Given the description of an element on the screen output the (x, y) to click on. 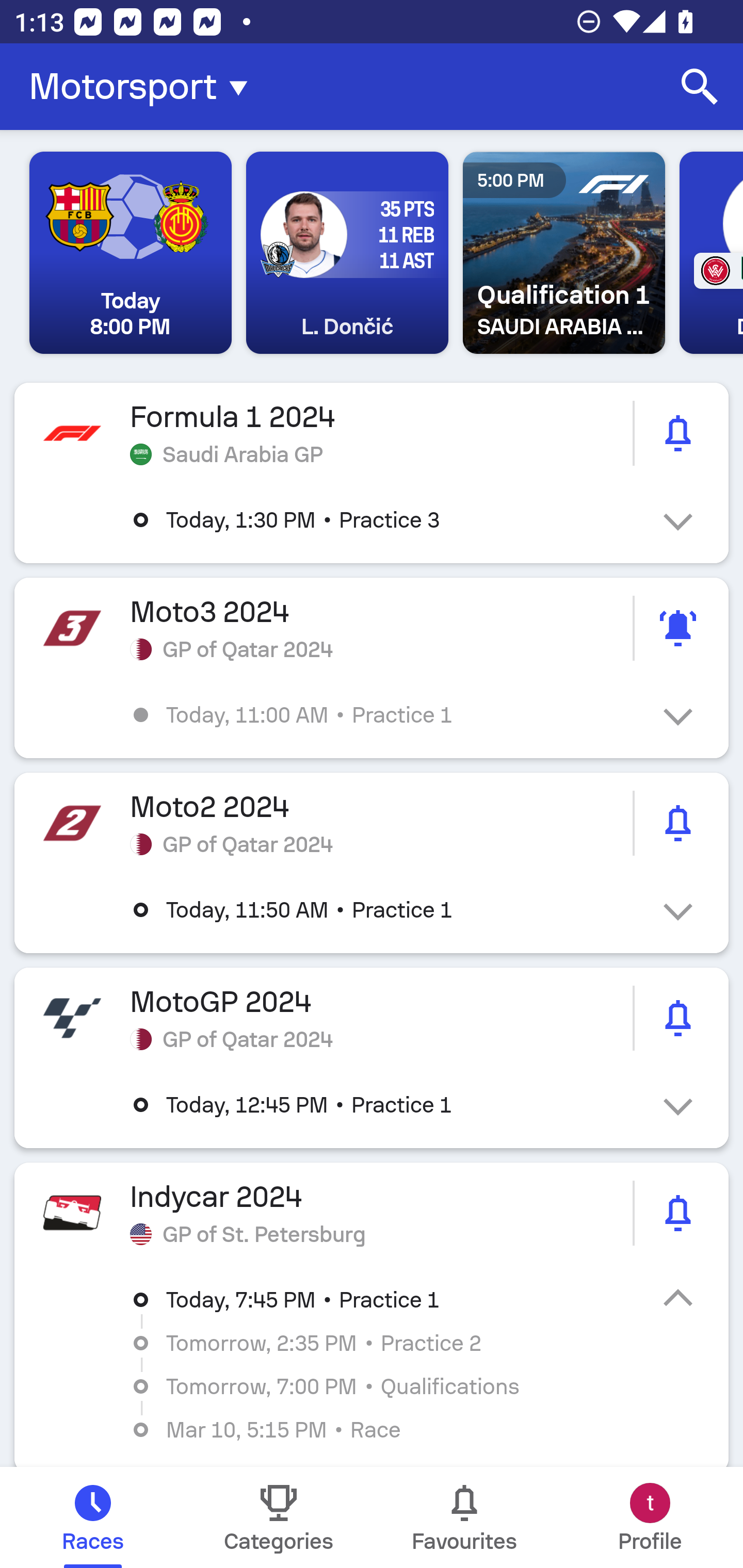
Motorsport (144, 86)
Search (699, 86)
Today
8:00 PM (130, 253)
35 PTS
11 REB
11 AST L. Dončić (346, 253)
Today, 1:30 PM • Practice 3 (385, 519)
Today, 11:00 AM • Practice 1 (385, 714)
Today, 11:50 AM • Practice 1 (385, 910)
Today, 12:45 PM • Practice 1 (385, 1104)
Categories (278, 1517)
Favourites (464, 1517)
Profile (650, 1517)
